Given the description of an element on the screen output the (x, y) to click on. 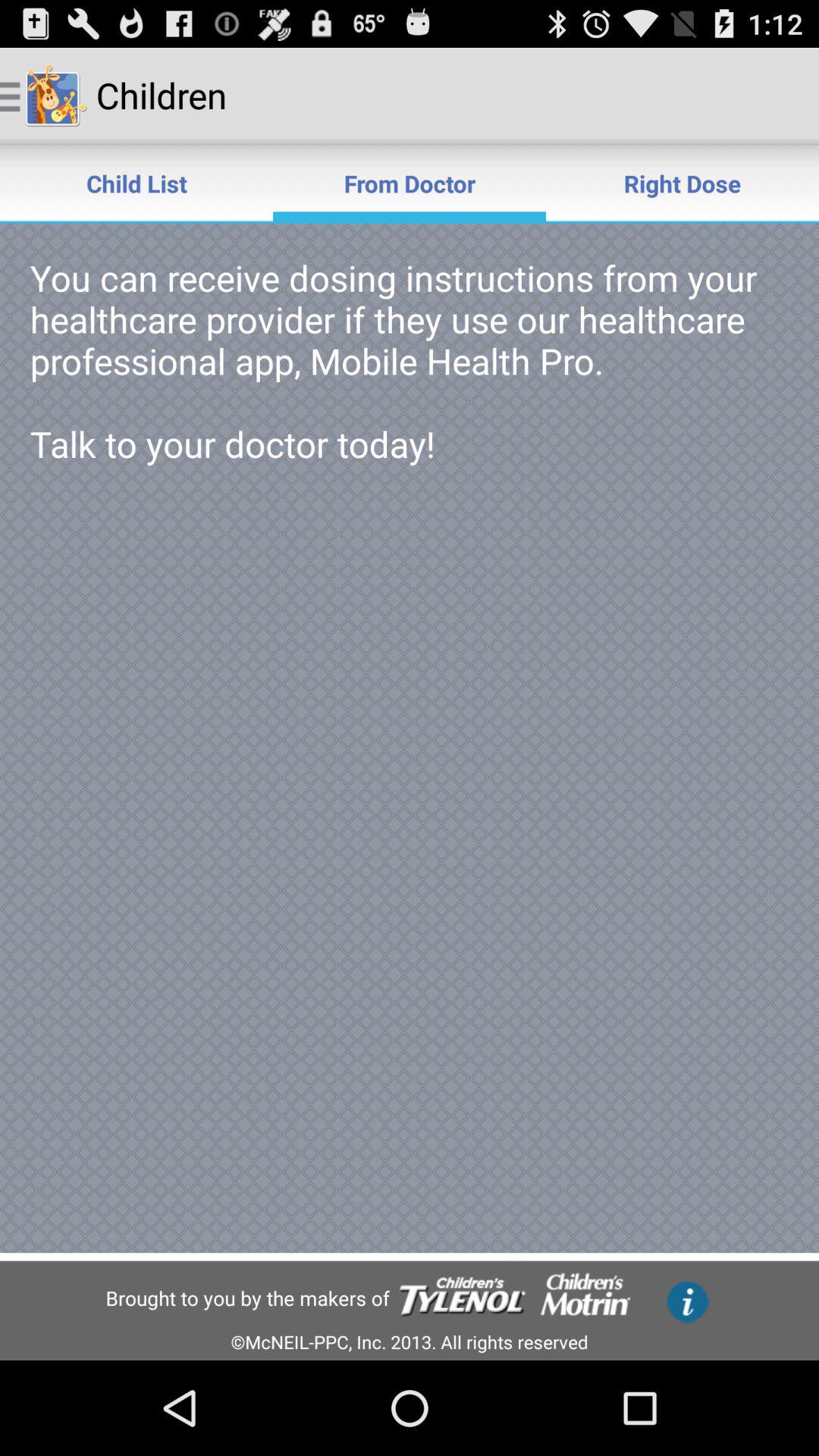
launch the item at the top right corner (682, 183)
